Given the description of an element on the screen output the (x, y) to click on. 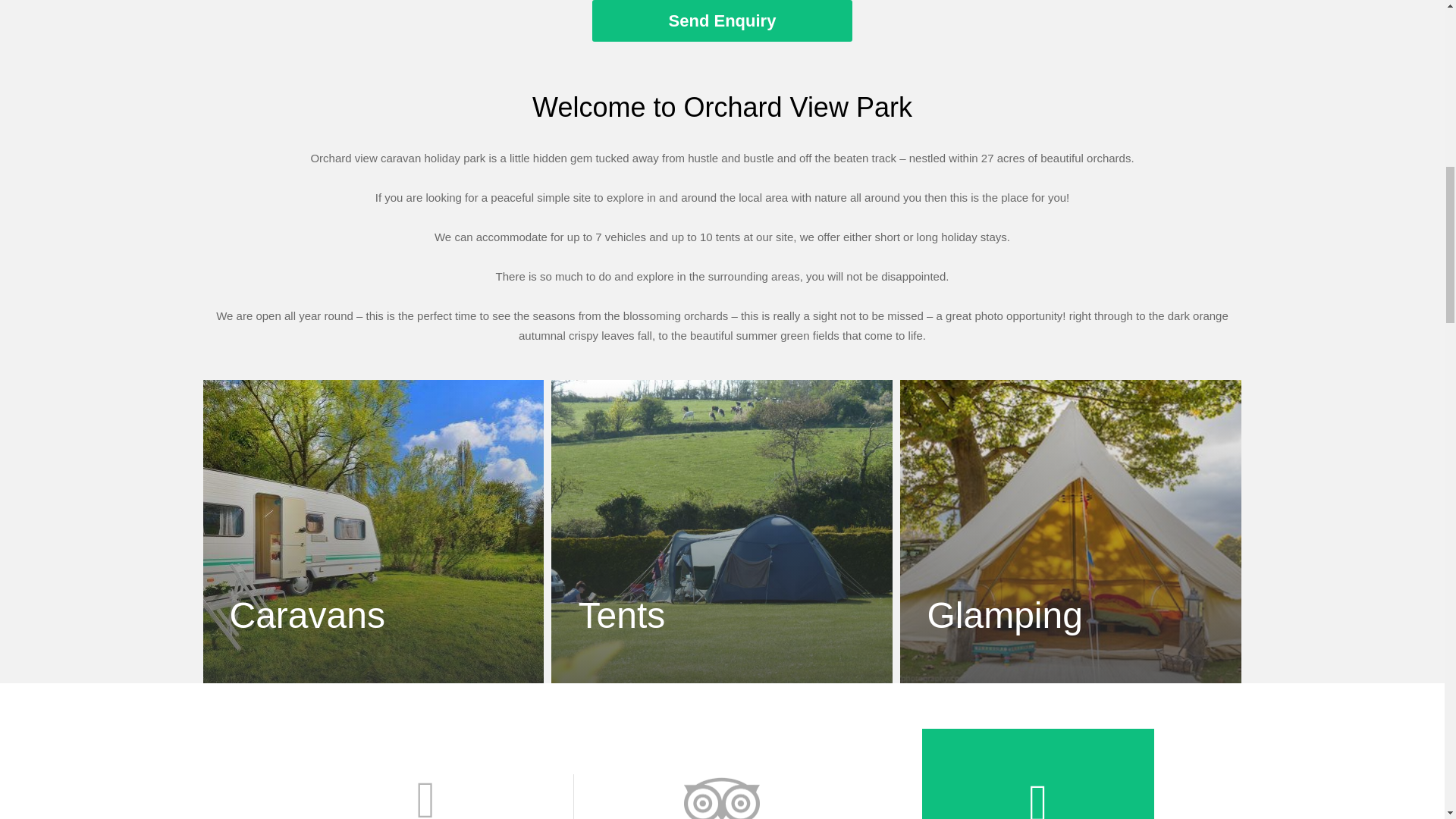
Send Enquiry (721, 20)
48942 (722, 796)
